Given the description of an element on the screen output the (x, y) to click on. 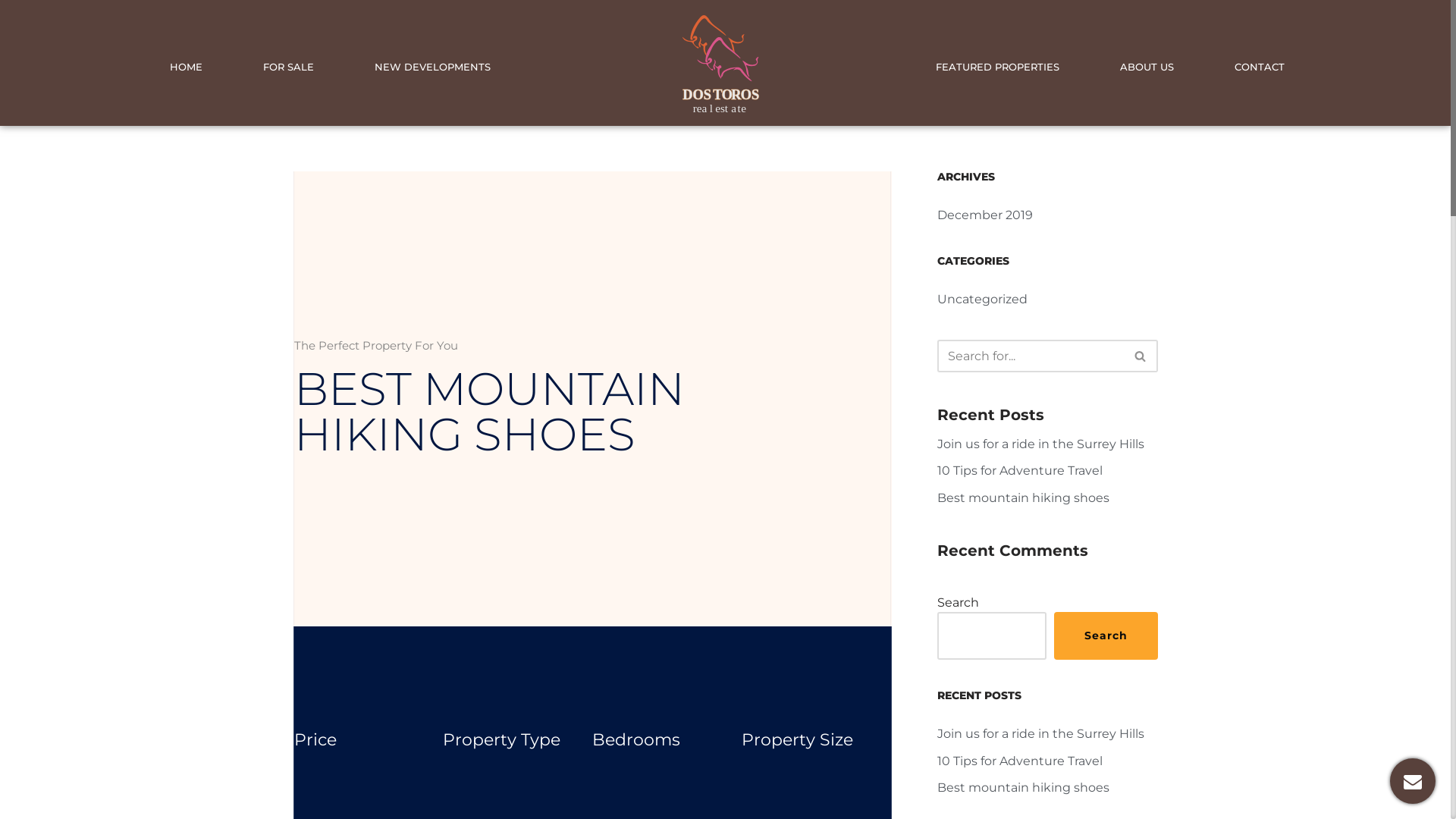
December 2019 Element type: text (984, 214)
Skip to content Element type: text (11, 31)
Join us for a ride in the Surrey Hills Element type: text (1040, 733)
Join us for a ride in the Surrey Hills Element type: text (1040, 443)
NEW DEVELOPMENTS Element type: text (432, 66)
Uncategorized Element type: text (982, 298)
ABOUT US Element type: text (1146, 66)
CONTACT Element type: text (1259, 66)
Best mountain hiking shoes Element type: text (1023, 787)
10 Tips for Adventure Travel Element type: text (1019, 760)
Best mountain hiking shoes Element type: text (1023, 497)
10 Tips for Adventure Travel Element type: text (1019, 470)
Search Element type: text (1105, 634)
HOME Element type: text (185, 66)
FEATURED PROPERTIES Element type: text (997, 66)
FOR SALE Element type: text (288, 66)
